Given the description of an element on the screen output the (x, y) to click on. 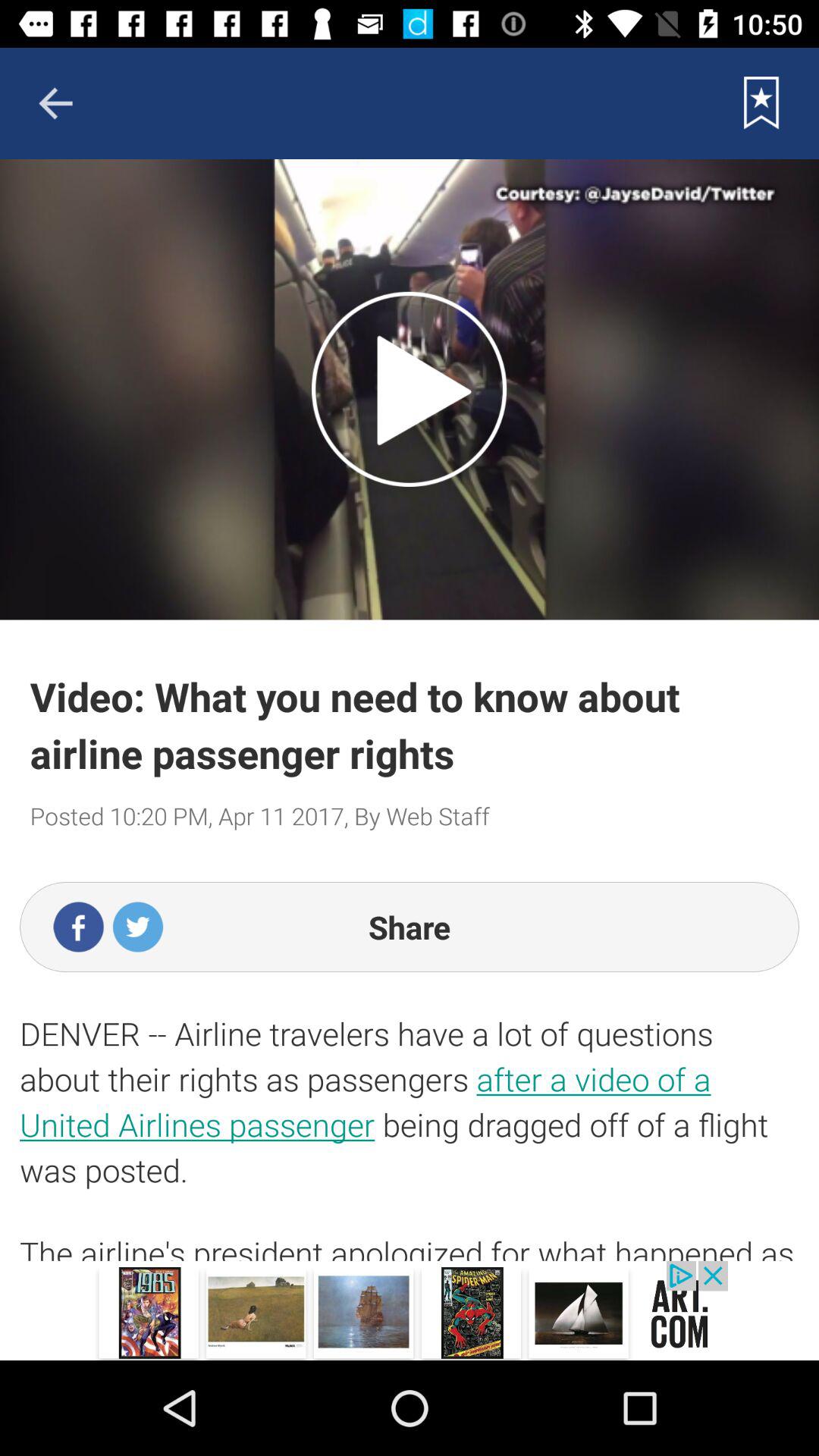
switch autoplay (408, 388)
